Given the description of an element on the screen output the (x, y) to click on. 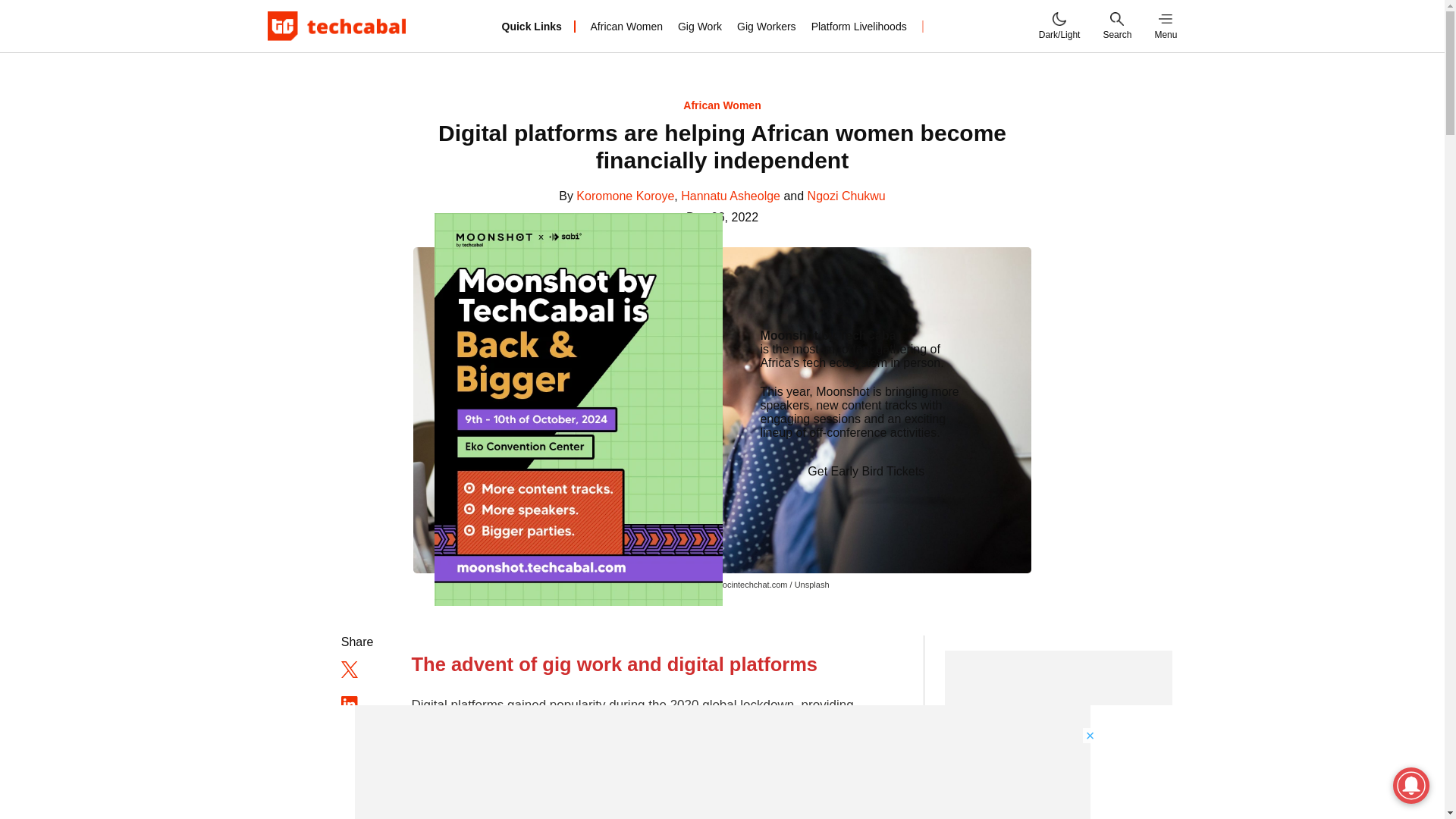
3rd party ad content (722, 762)
3rd party ad content (1058, 734)
Gig Workers (766, 25)
Platform Livelihoods (858, 25)
African Women (626, 25)
Search (1116, 26)
Gig Work (700, 25)
